Given the description of an element on the screen output the (x, y) to click on. 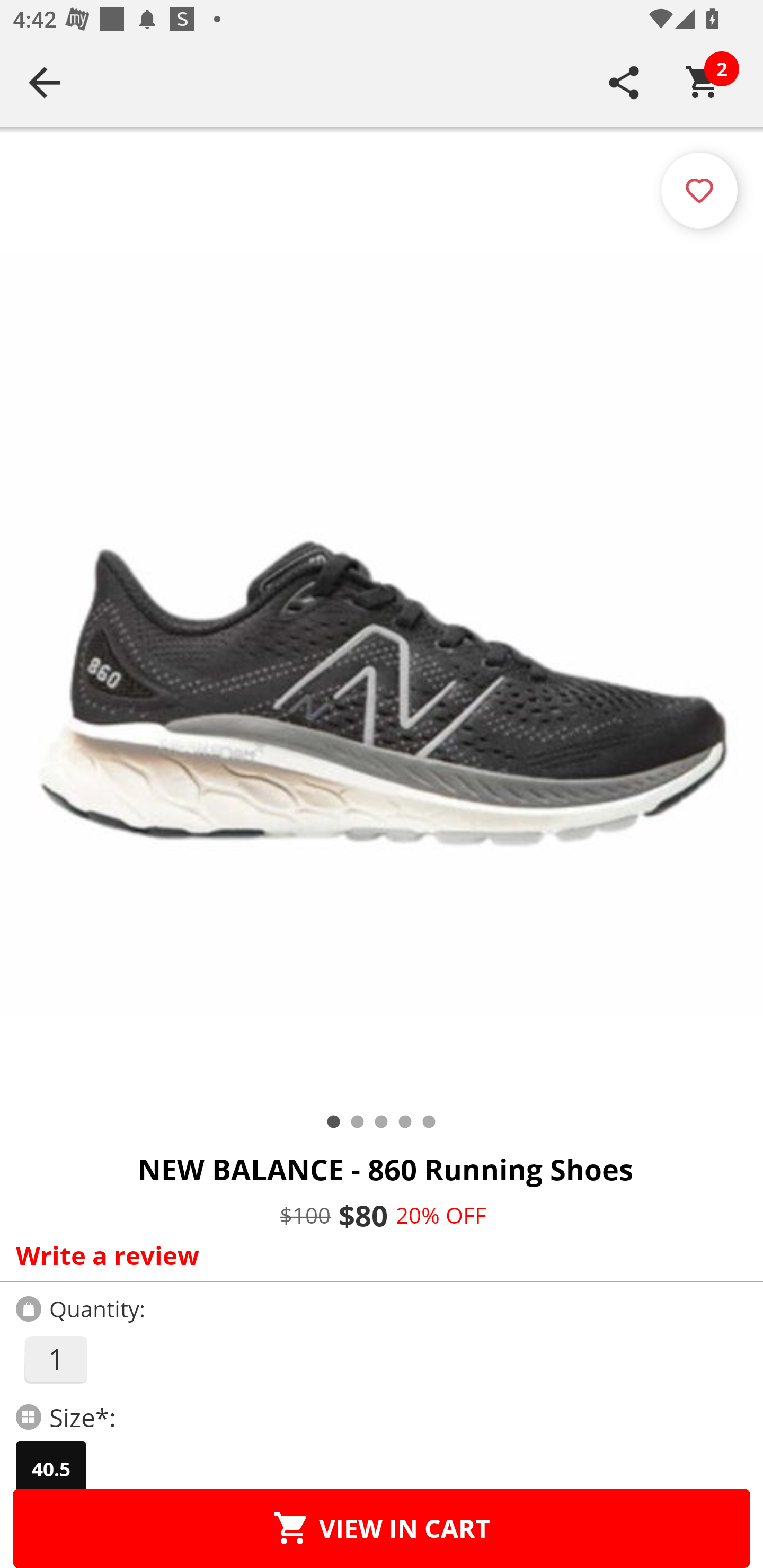
Navigate up (44, 82)
SHARE (623, 82)
Cart (703, 81)
Write a review (377, 1255)
1 (55, 1358)
40.5 (51, 1468)
VIEW IN CART (381, 1528)
